Given the description of an element on the screen output the (x, y) to click on. 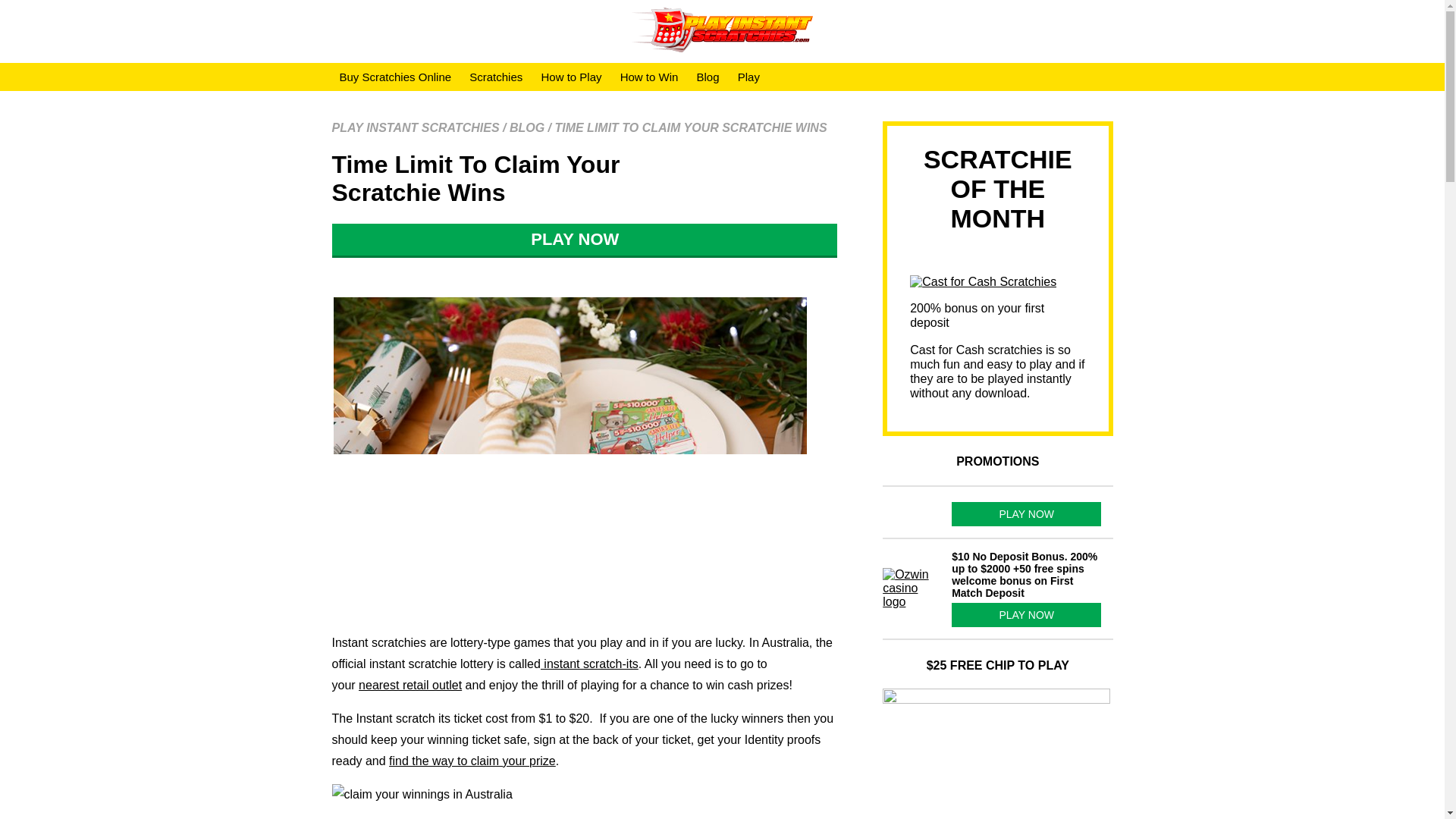
Go to Play Instant Scratchies. (415, 127)
How to Win (648, 76)
PLAY INSTANT SCRATCHIES (415, 127)
PLAY NOW (584, 240)
Buy Scratchies Online (395, 76)
Go to the Blog category archives. (526, 127)
Blog (707, 76)
nearest retail outlet (409, 684)
Scratchies (495, 76)
find the way to claim your prize (472, 760)
